Given the description of an element on the screen output the (x, y) to click on. 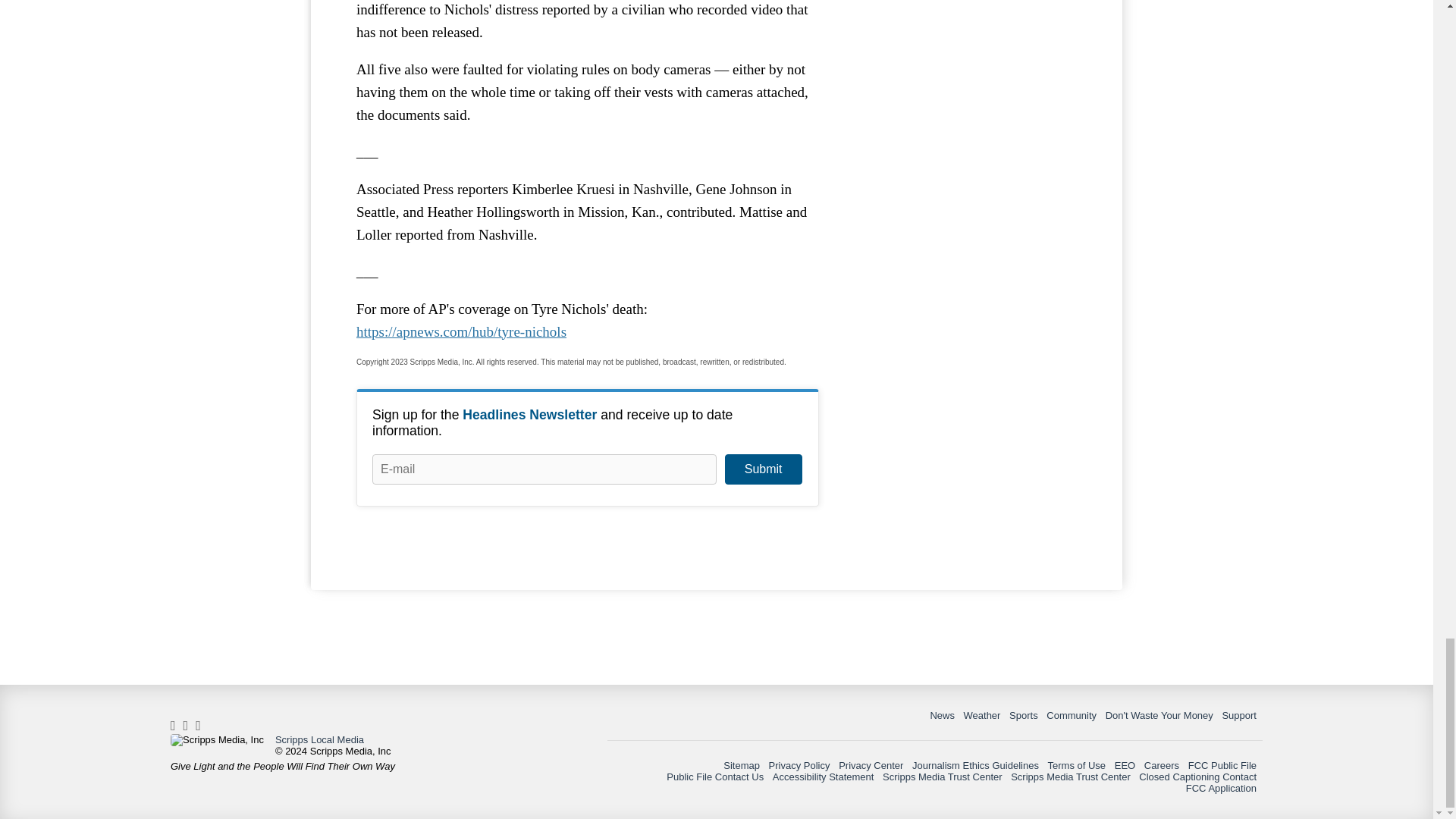
Submit (763, 469)
